Given the description of an element on the screen output the (x, y) to click on. 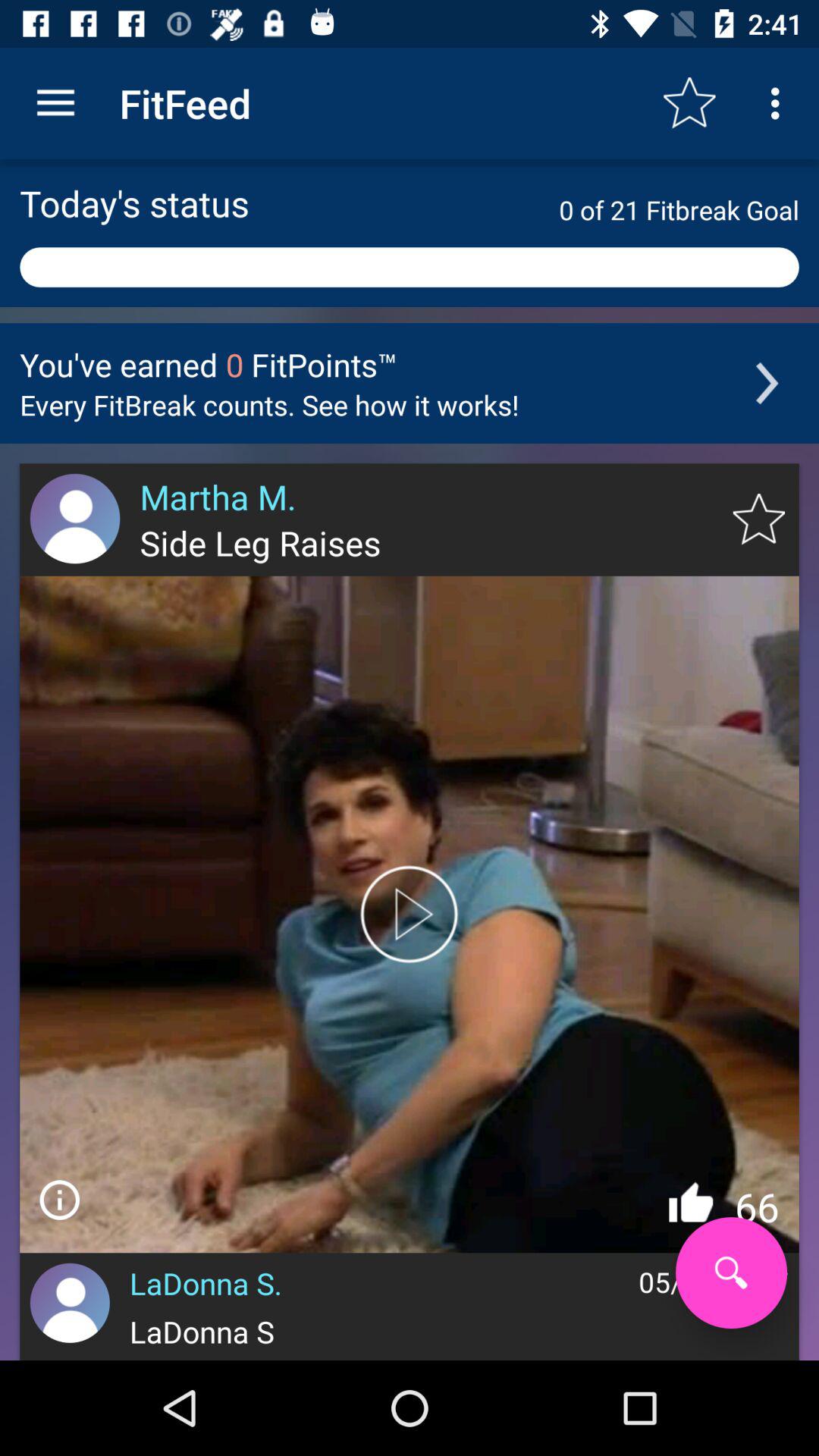
add to favorites (758, 519)
